Given the description of an element on the screen output the (x, y) to click on. 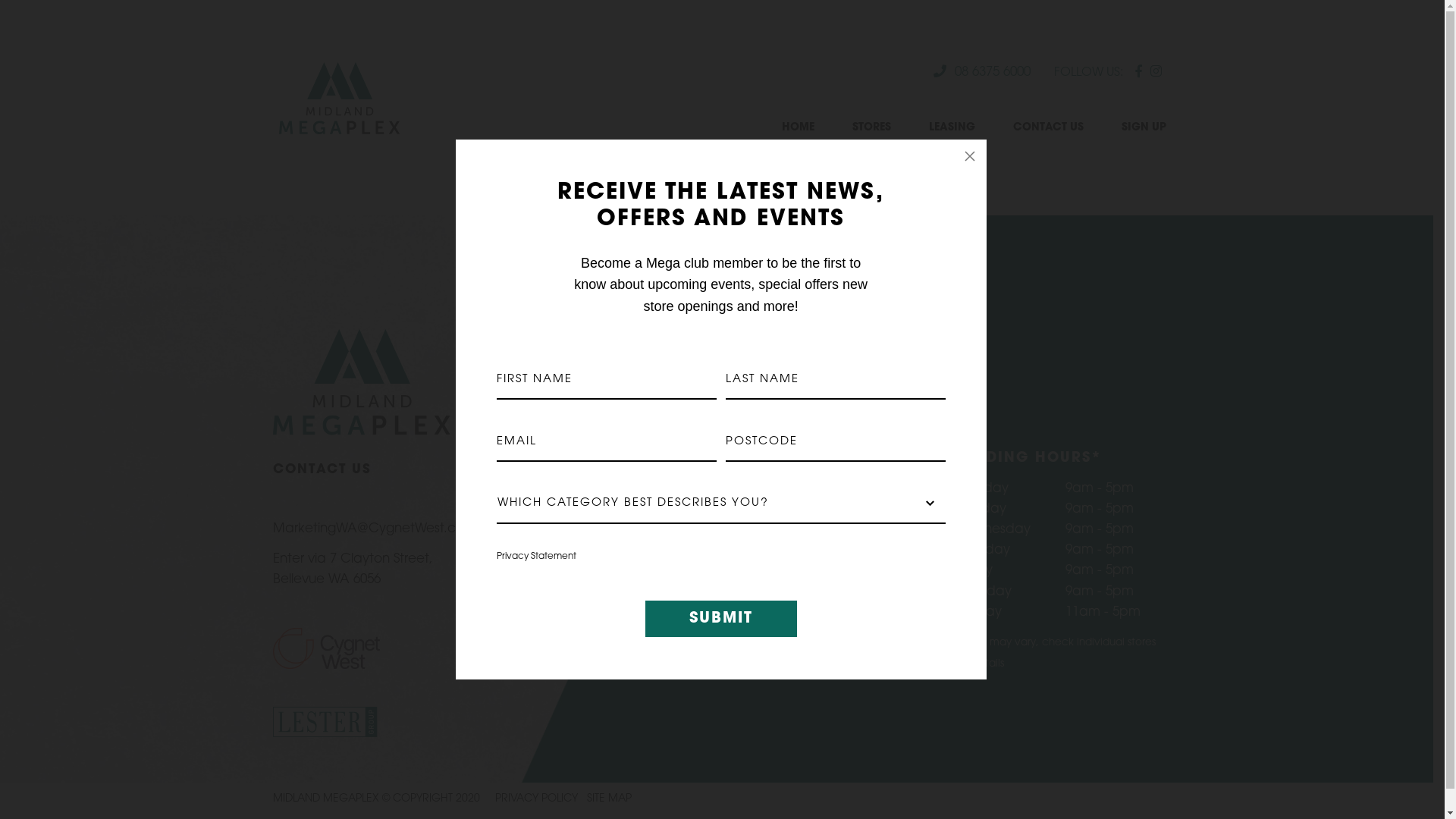
PRIVACY POLICY Element type: text (536, 798)
HOME Element type: text (796, 127)
Submit Element type: text (721, 618)
ABOUT Element type: text (853, 460)
SIGN UP Element type: text (1142, 127)
LEASING Element type: text (951, 127)
08 6375 6000 Element type: text (981, 72)
SITE MAP Element type: text (608, 798)
MarketingWA@CygnetWest.com Element type: text (374, 528)
Close Element type: hover (969, 155)
Privacy Statement Element type: text (536, 556)
LEASING Element type: text (853, 516)
STORES Element type: text (871, 127)
CONTACT US Element type: text (1048, 127)
OUR STORES Element type: text (853, 488)
